Given the description of an element on the screen output the (x, y) to click on. 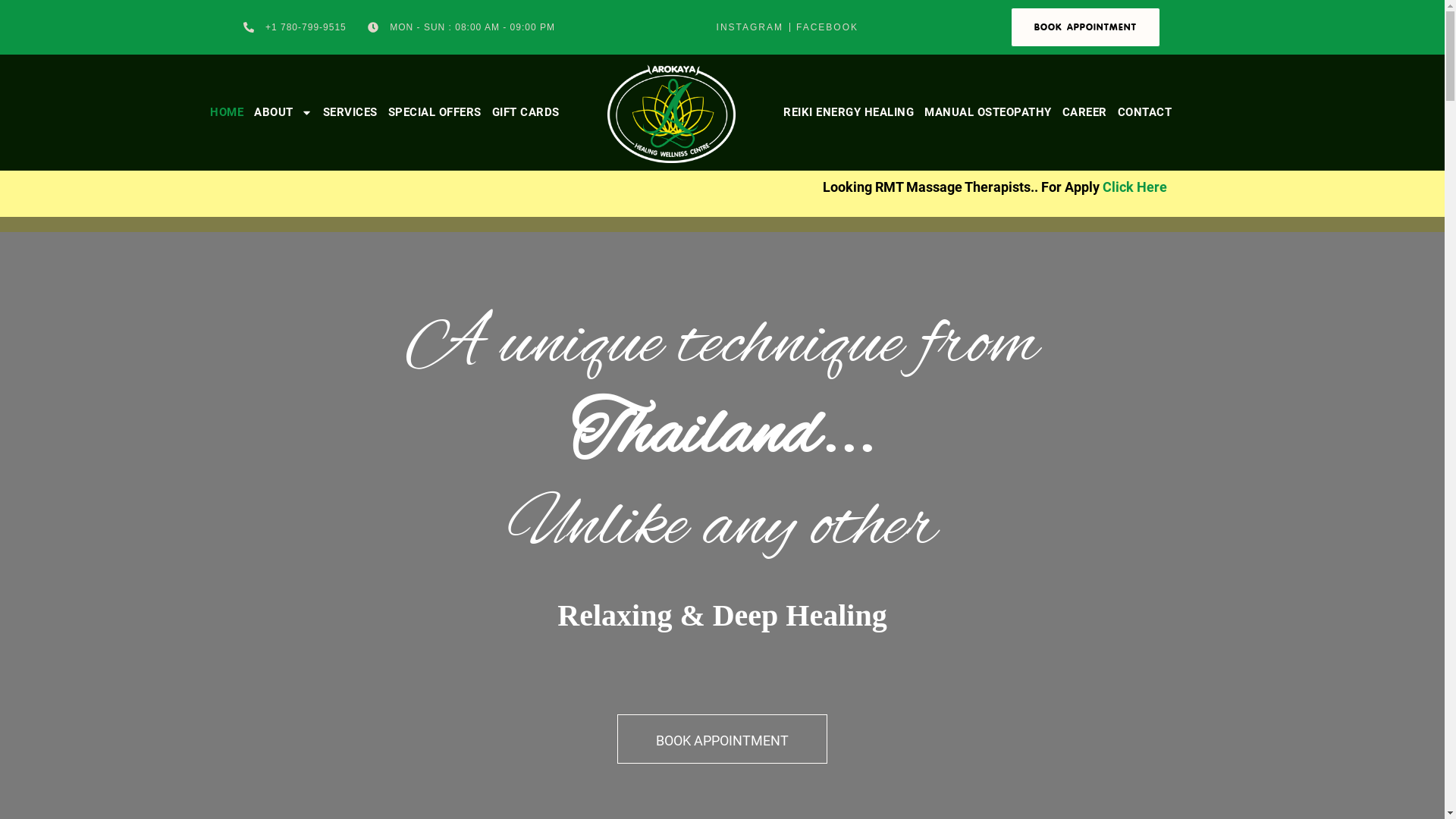
Click Here Element type: text (1308, 186)
GIFT CARDS Element type: text (525, 111)
REIKI ENERGY HEALING Element type: text (848, 111)
CAREER Element type: text (1084, 111)
CONTACT Element type: text (1144, 111)
BOOK APPOINTMENT Element type: text (1085, 27)
MANUAL OSTEOPATHY Element type: text (988, 111)
ABOUT Element type: text (282, 111)
HOME Element type: text (226, 111)
SPECIAL OFFERS Element type: text (434, 111)
BOOK APPOINTMENT Element type: text (722, 738)
+1 780-799-9515 Element type: text (293, 27)
SERVICES Element type: text (349, 111)
FACEBOOK Element type: text (827, 27)
INSTAGRAM Element type: text (749, 27)
